Given the description of an element on the screen output the (x, y) to click on. 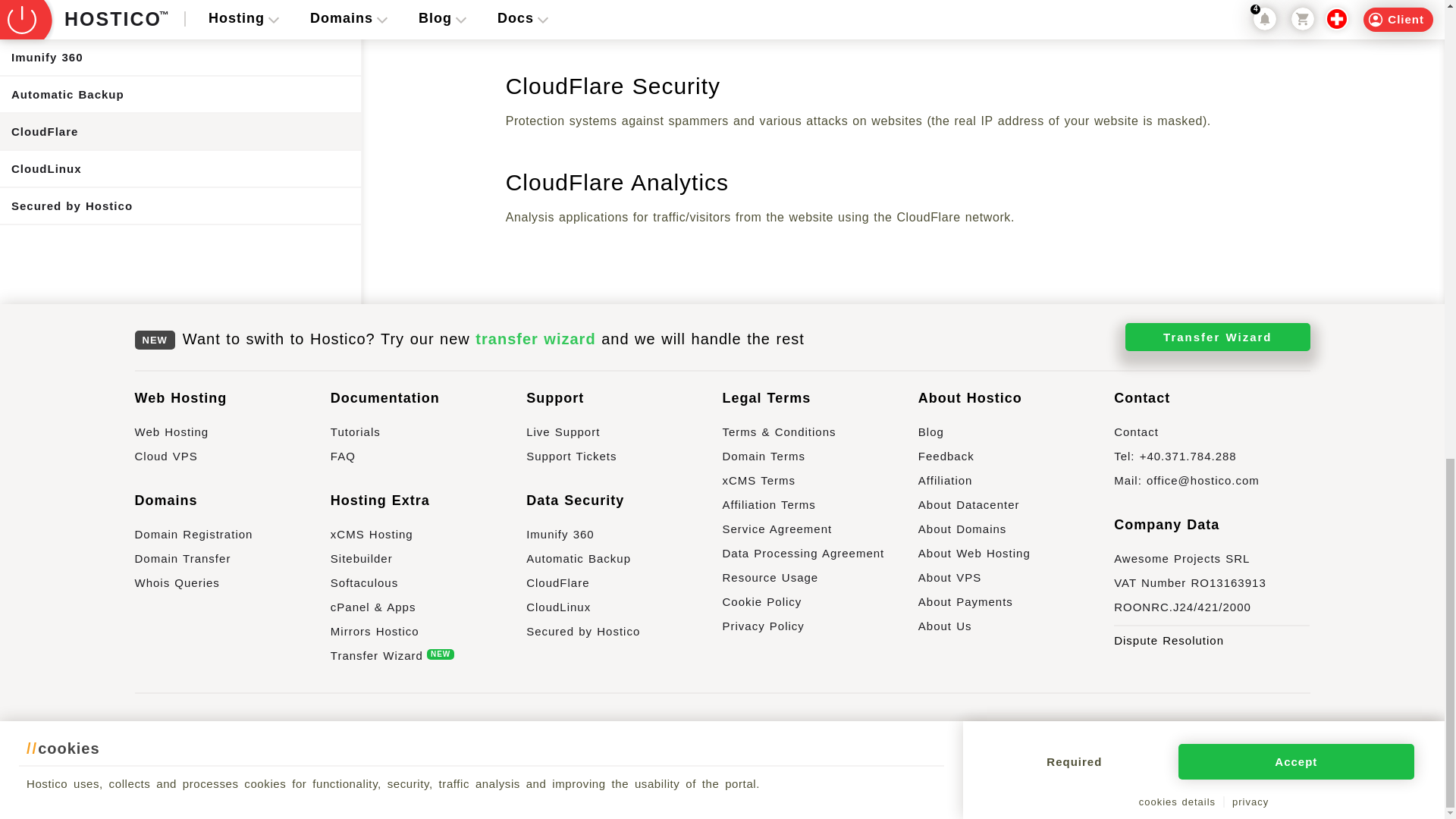
FAQ (427, 461)
Whois Queries (232, 588)
Domain Registration (232, 539)
xCMS Hosting (427, 539)
Cloud VPS (232, 461)
Domain Transfer (232, 564)
Web Hosting (232, 437)
Tutorials (427, 437)
